Given the description of an element on the screen output the (x, y) to click on. 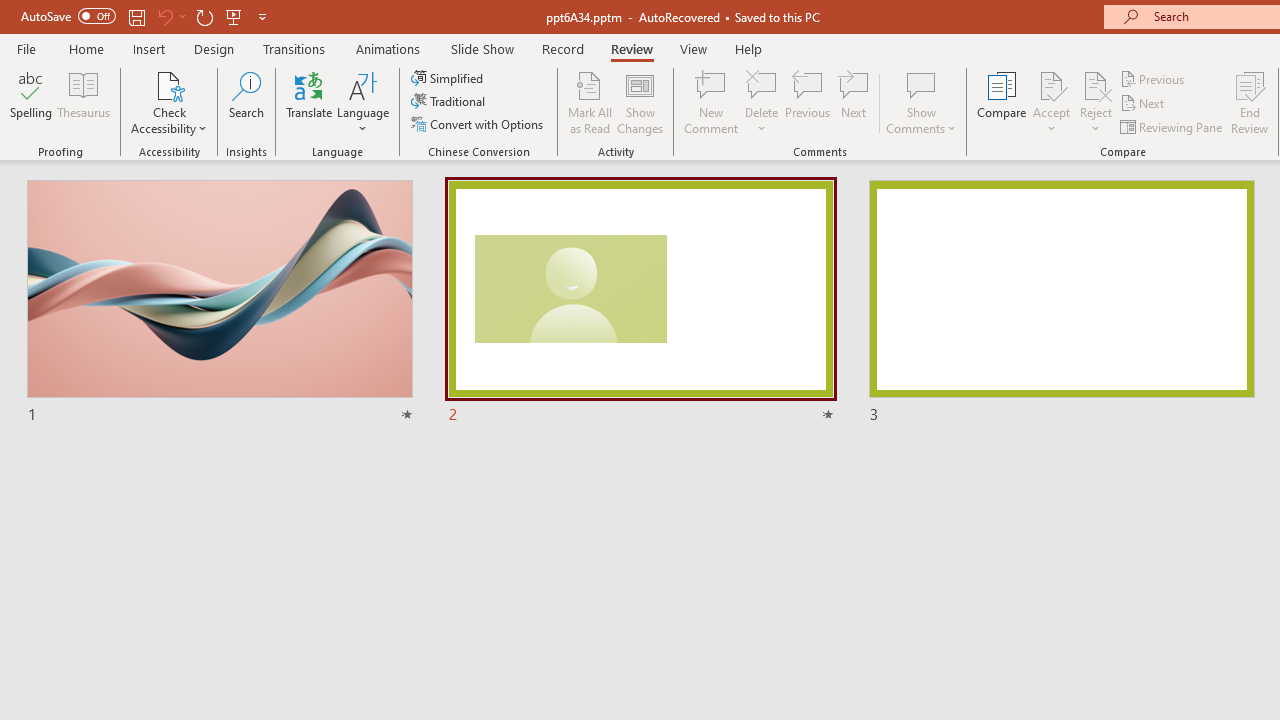
Reject (1096, 102)
Simplified (449, 78)
Reject Change (1096, 84)
Translate (309, 102)
Thesaurus... (83, 102)
Show Changes (639, 102)
Accept Change (1051, 84)
